Given the description of an element on the screen output the (x, y) to click on. 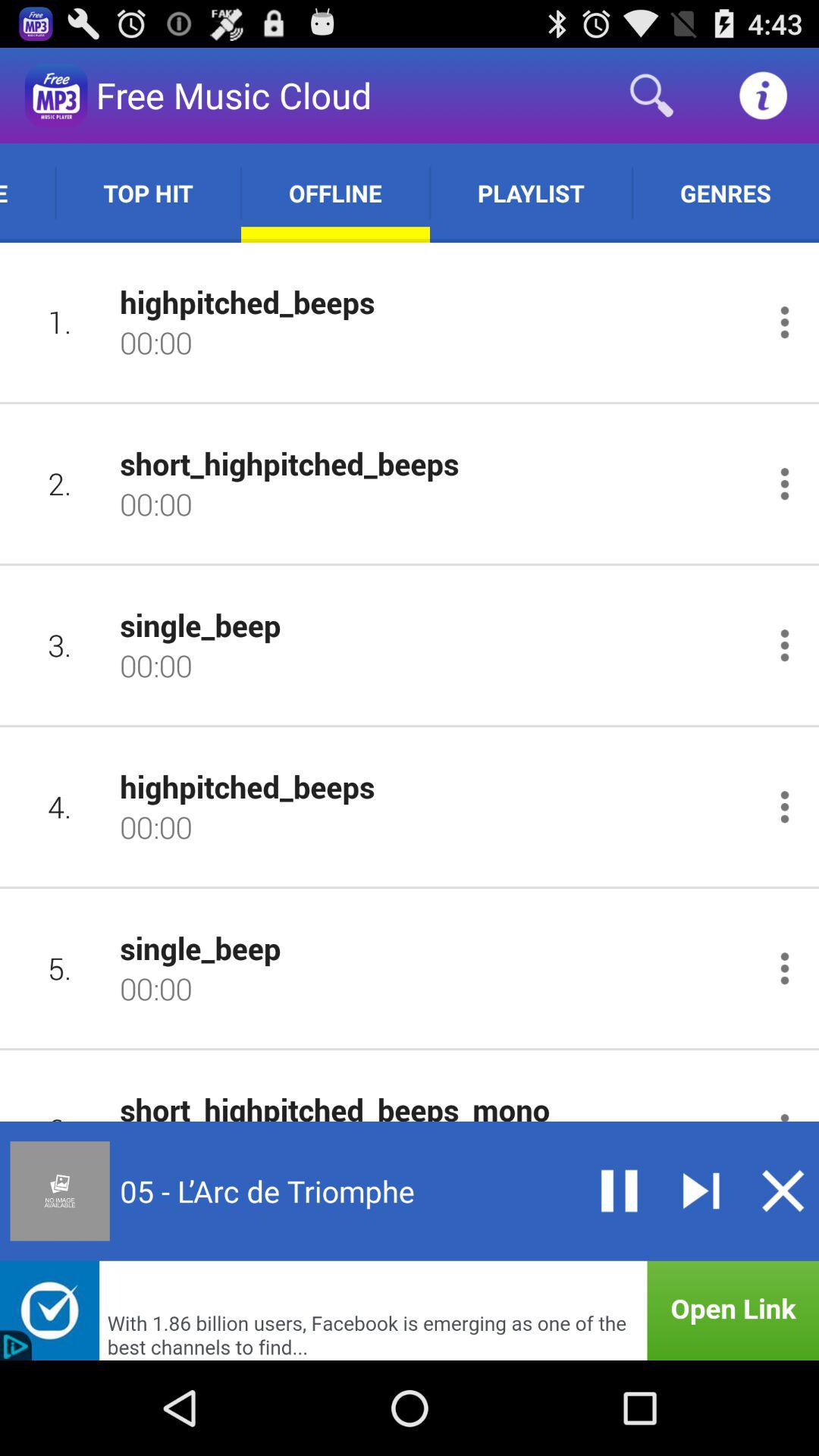
toggle options menu (784, 322)
